Given the description of an element on the screen output the (x, y) to click on. 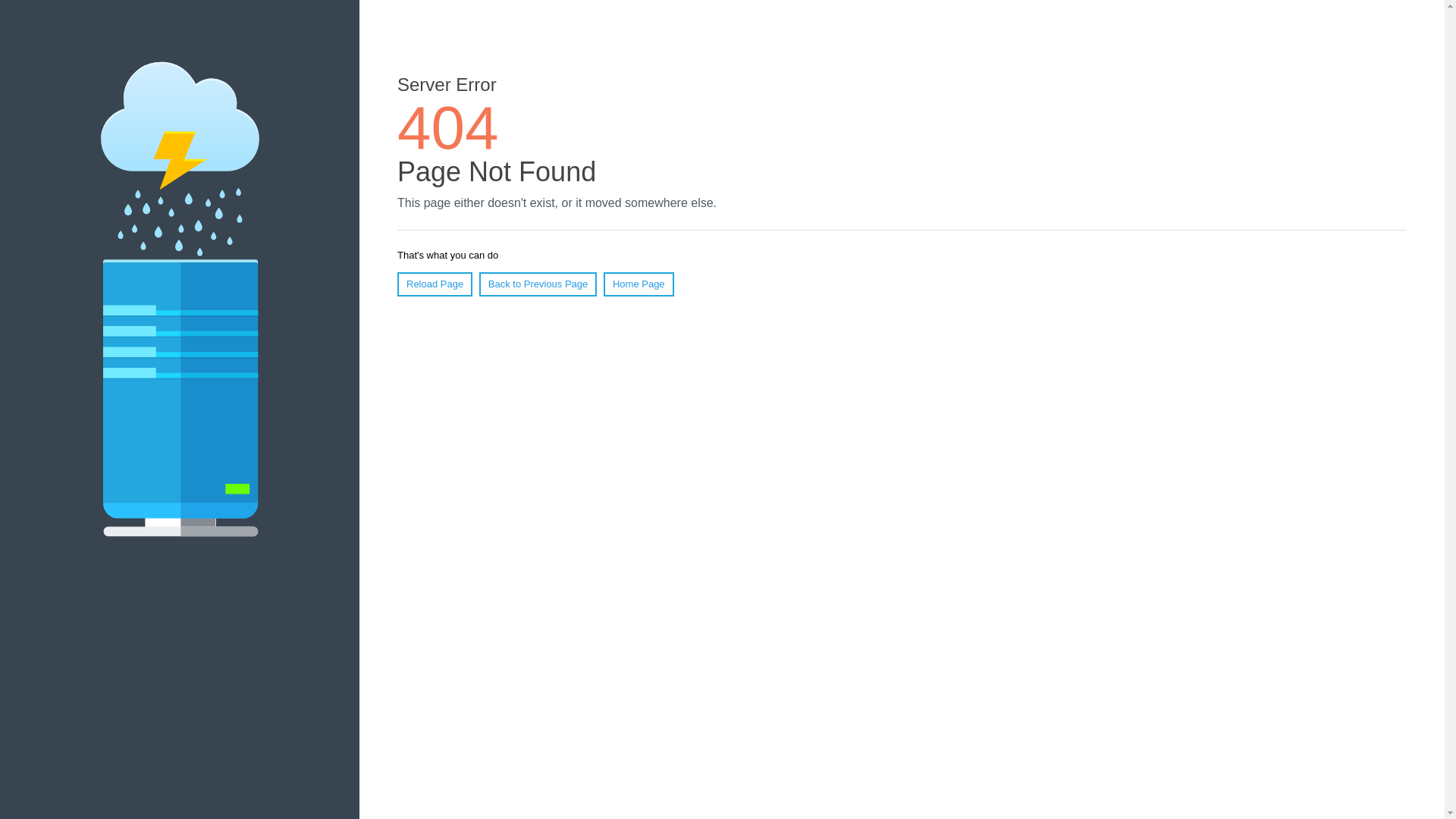
Home Page (639, 283)
Back to Previous Page (537, 283)
Reload Page (434, 283)
